Given the description of an element on the screen output the (x, y) to click on. 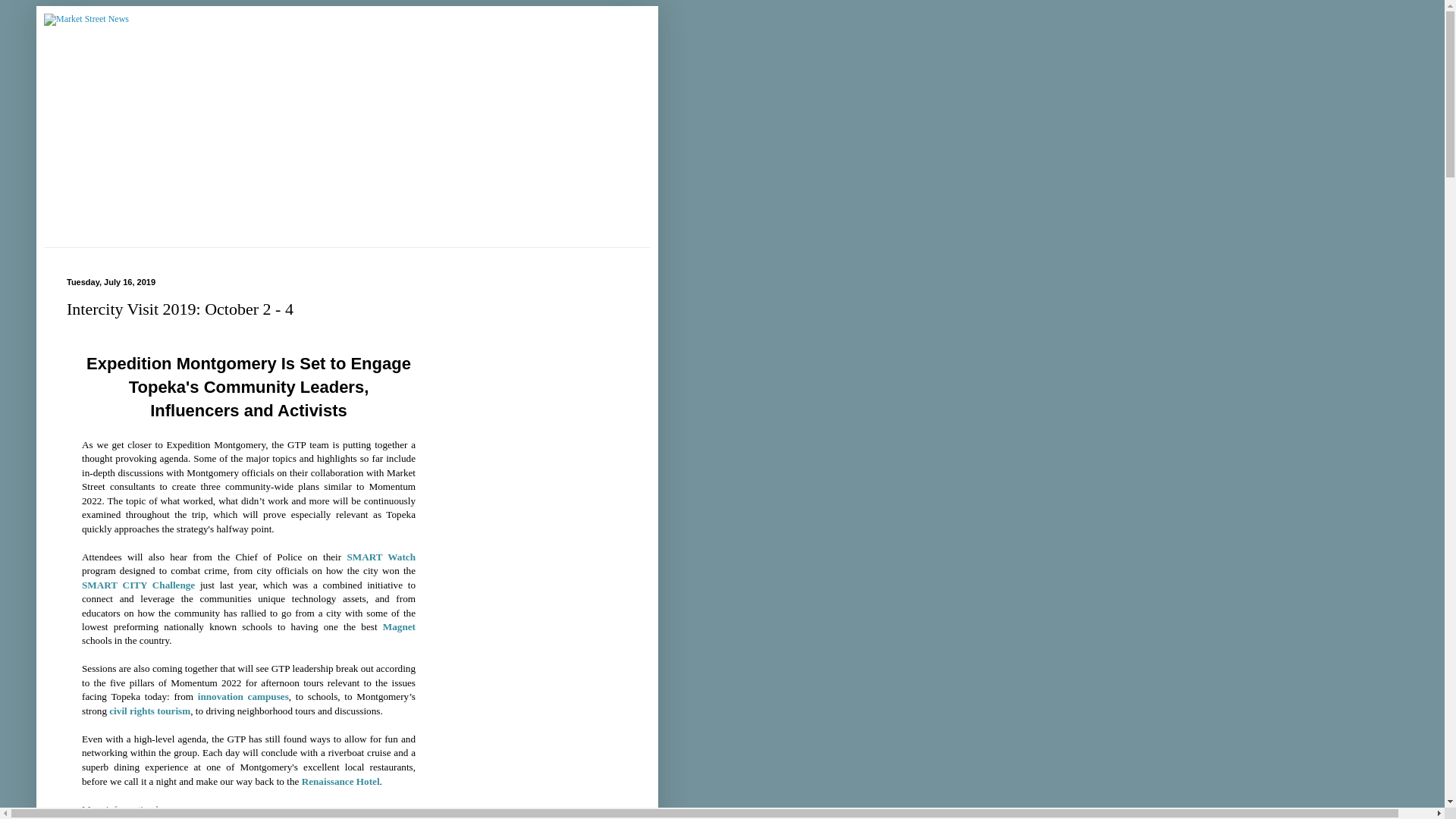
Magnet (398, 626)
SMART CITY Challenge (138, 584)
here (164, 808)
Renaissance Hotel (340, 781)
SMART Watch (380, 556)
civil rights tourism (149, 710)
innovation campuses (243, 696)
